Given the description of an element on the screen output the (x, y) to click on. 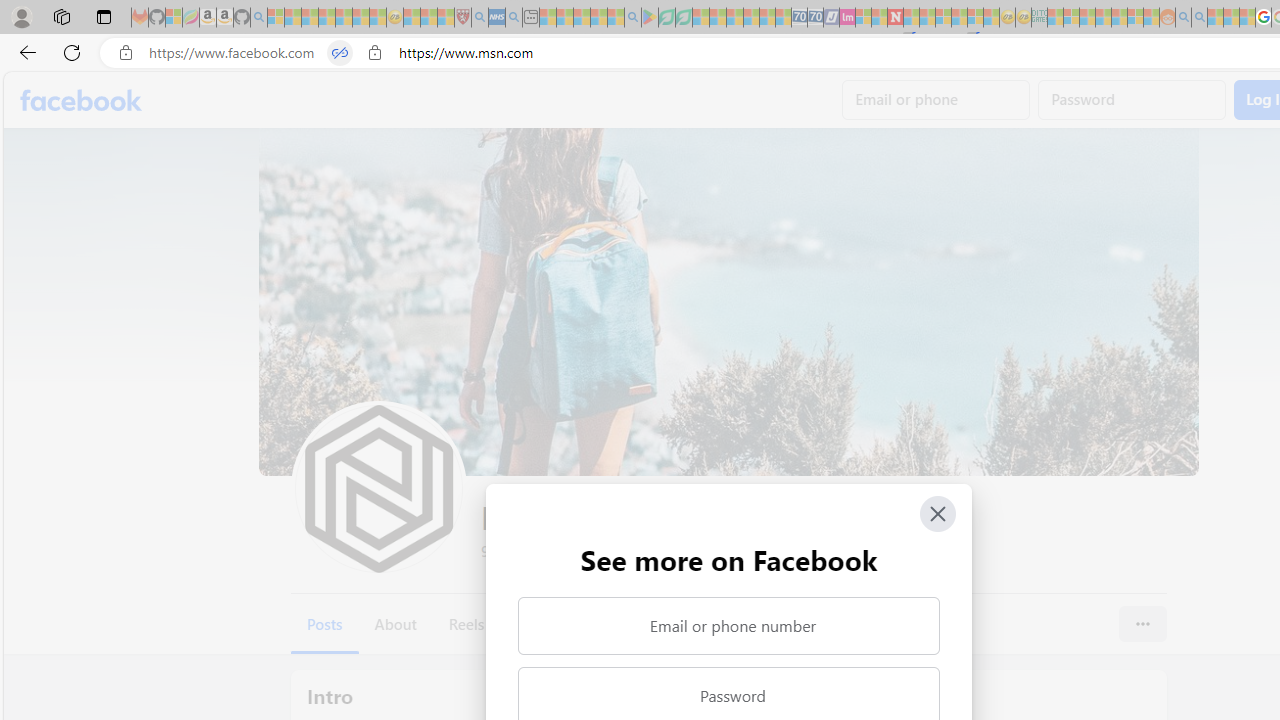
Tabs in split screen (339, 53)
Email or phone number (728, 625)
